Given the description of an element on the screen output the (x, y) to click on. 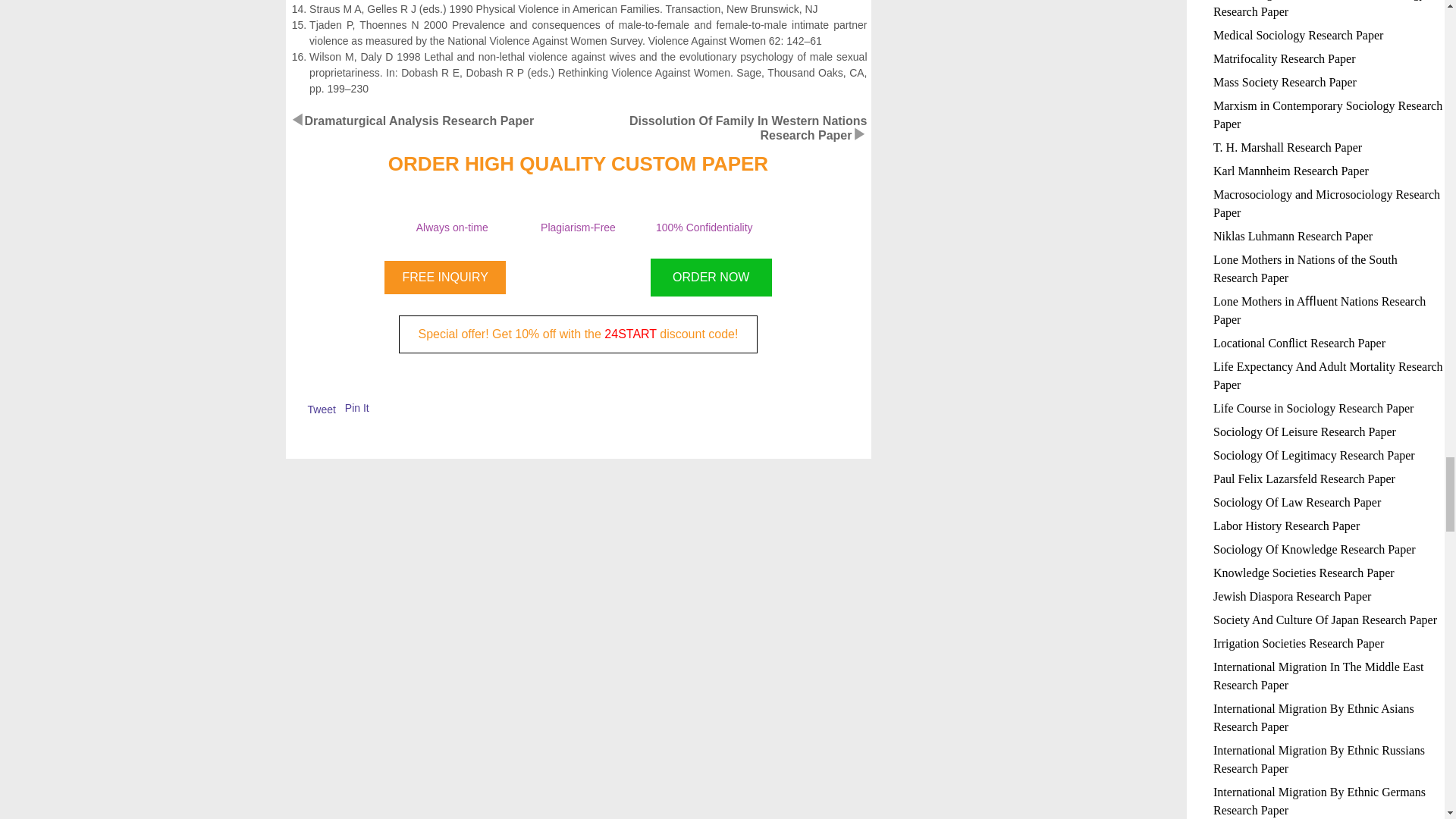
ORDER NOW (710, 277)
Dramaturgical Analysis Research Paper (419, 120)
Tweet (321, 409)
Dissolution Of Family In Western Nations Research Paper (747, 127)
Pin It (357, 408)
Dissolution Of Family In Western Nations Research Paper (747, 127)
Dramaturgical Analysis Research Paper (419, 120)
FREE INQUIRY (444, 277)
